Given the description of an element on the screen output the (x, y) to click on. 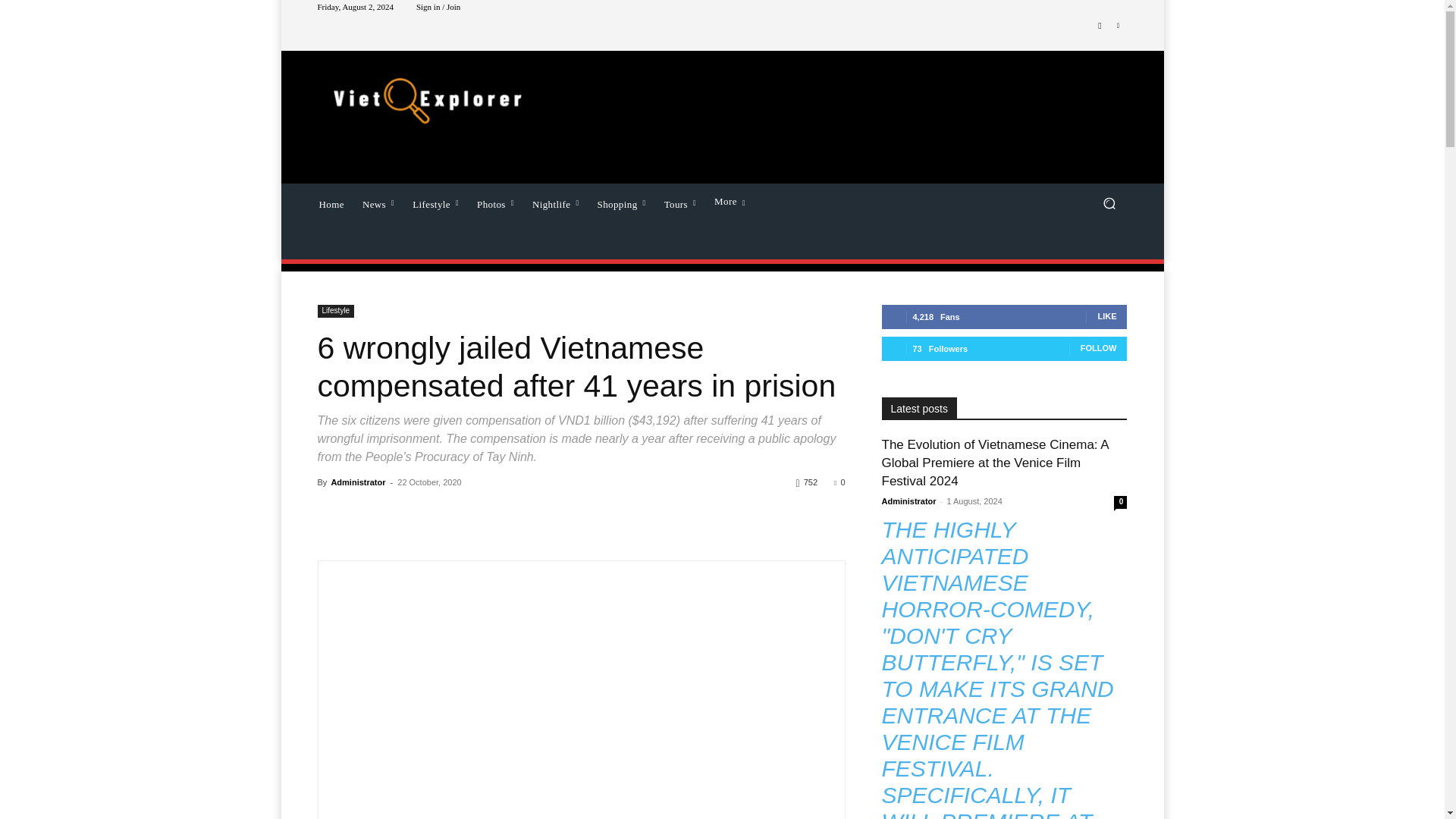
Lifestyle (435, 202)
Facebook (1099, 25)
Twitter (1117, 25)
News (378, 202)
Home (330, 202)
